Given the description of an element on the screen output the (x, y) to click on. 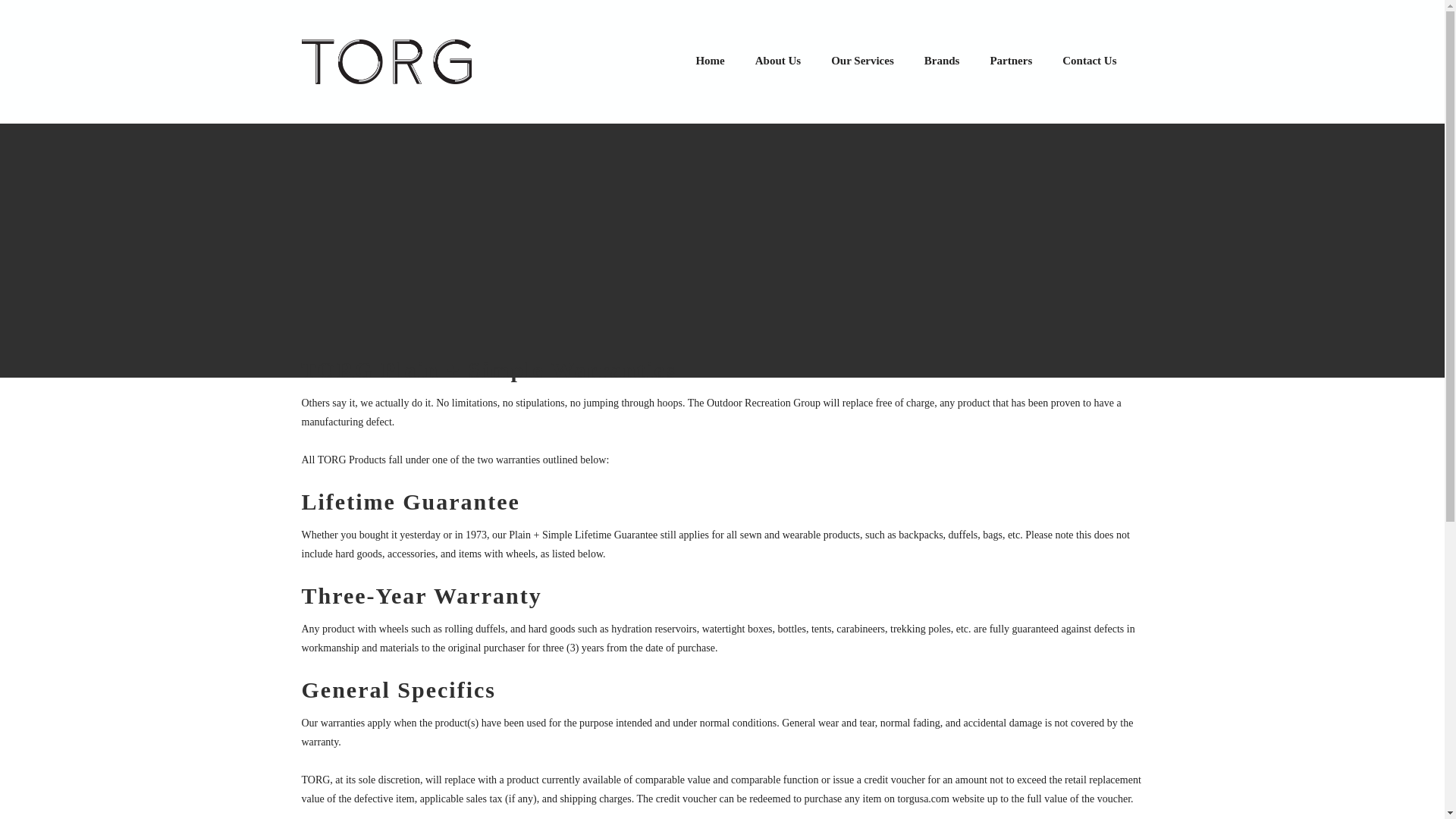
Home (709, 61)
Contact Us (1088, 61)
Brands (941, 61)
About Us (777, 61)
Partners (1010, 61)
Our Services (861, 61)
